Given the description of an element on the screen output the (x, y) to click on. 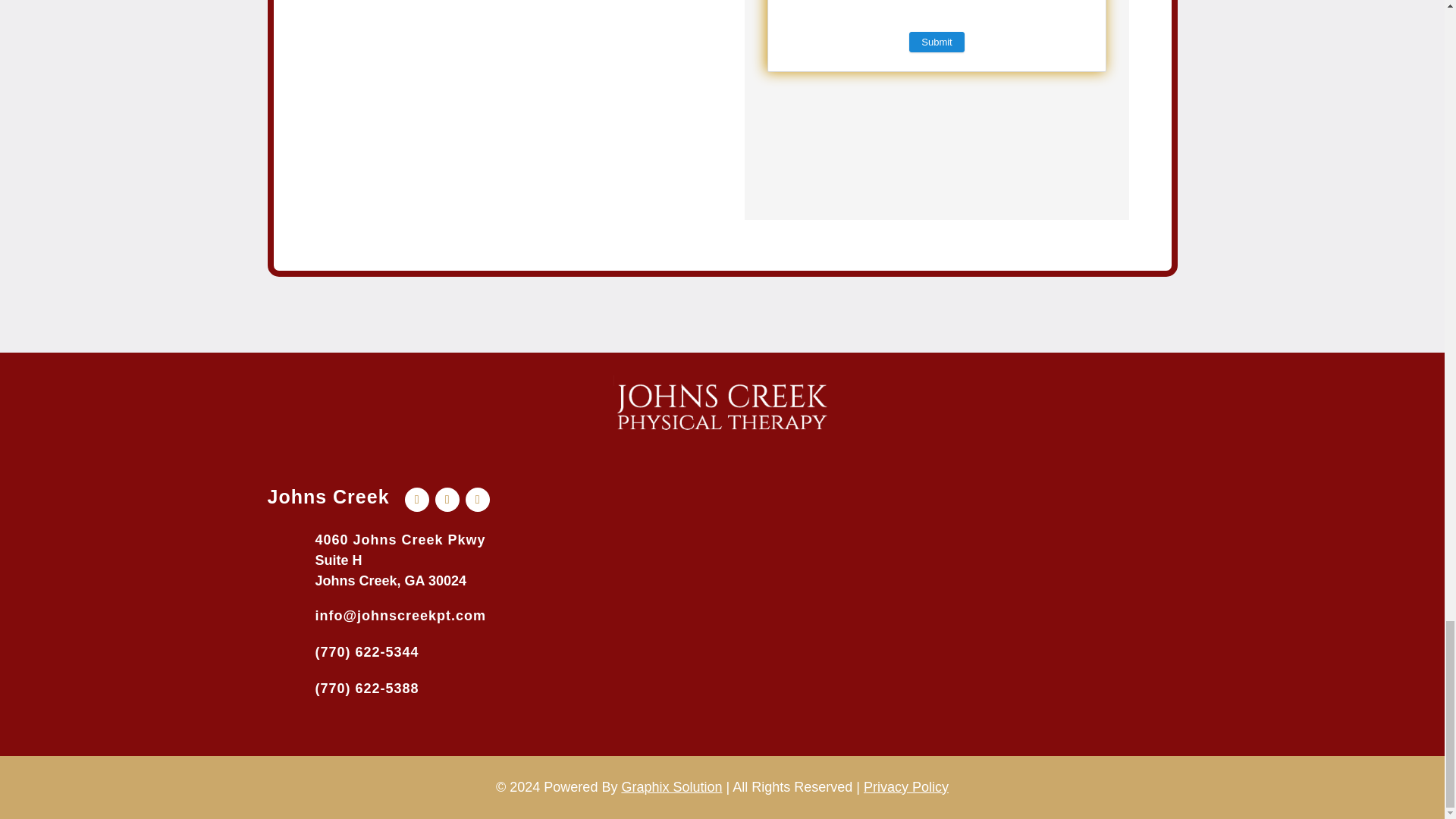
Follow on Youtube (447, 499)
Johns-Creek-Physical-Therapy-White-logo-01 (722, 406)
Follow on Instagram (477, 499)
Follow on Facebook (416, 499)
